Given the description of an element on the screen output the (x, y) to click on. 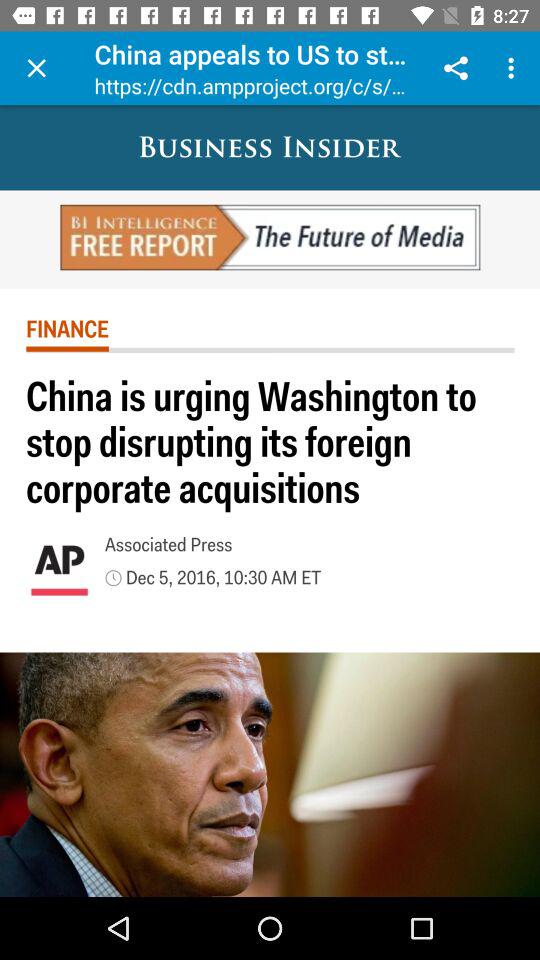
close (36, 68)
